Given the description of an element on the screen output the (x, y) to click on. 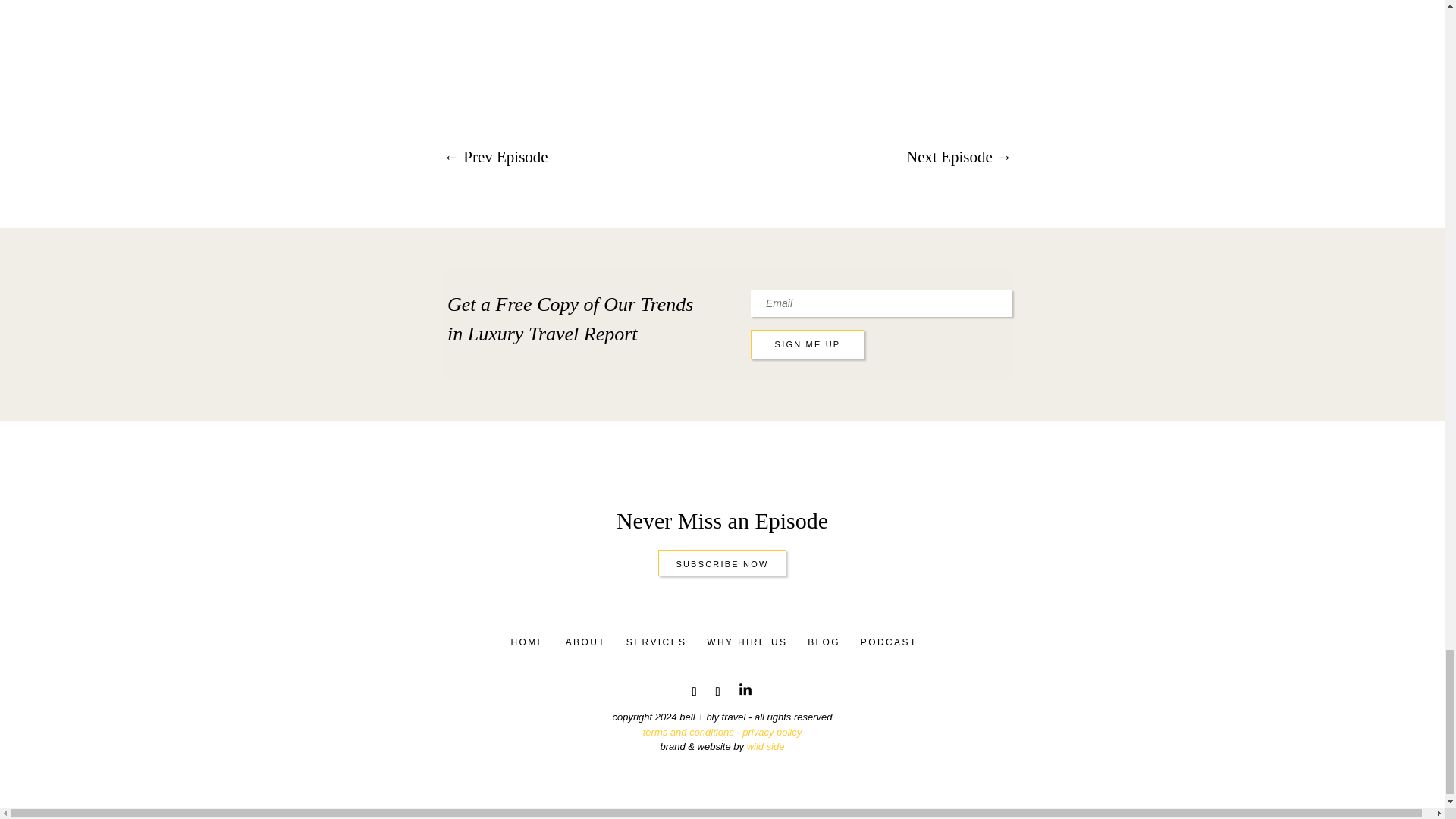
The Art of River Cruising (727, 48)
SIGN ME UP (807, 344)
SUBSCRIBE NOW (722, 562)
